Given the description of an element on the screen output the (x, y) to click on. 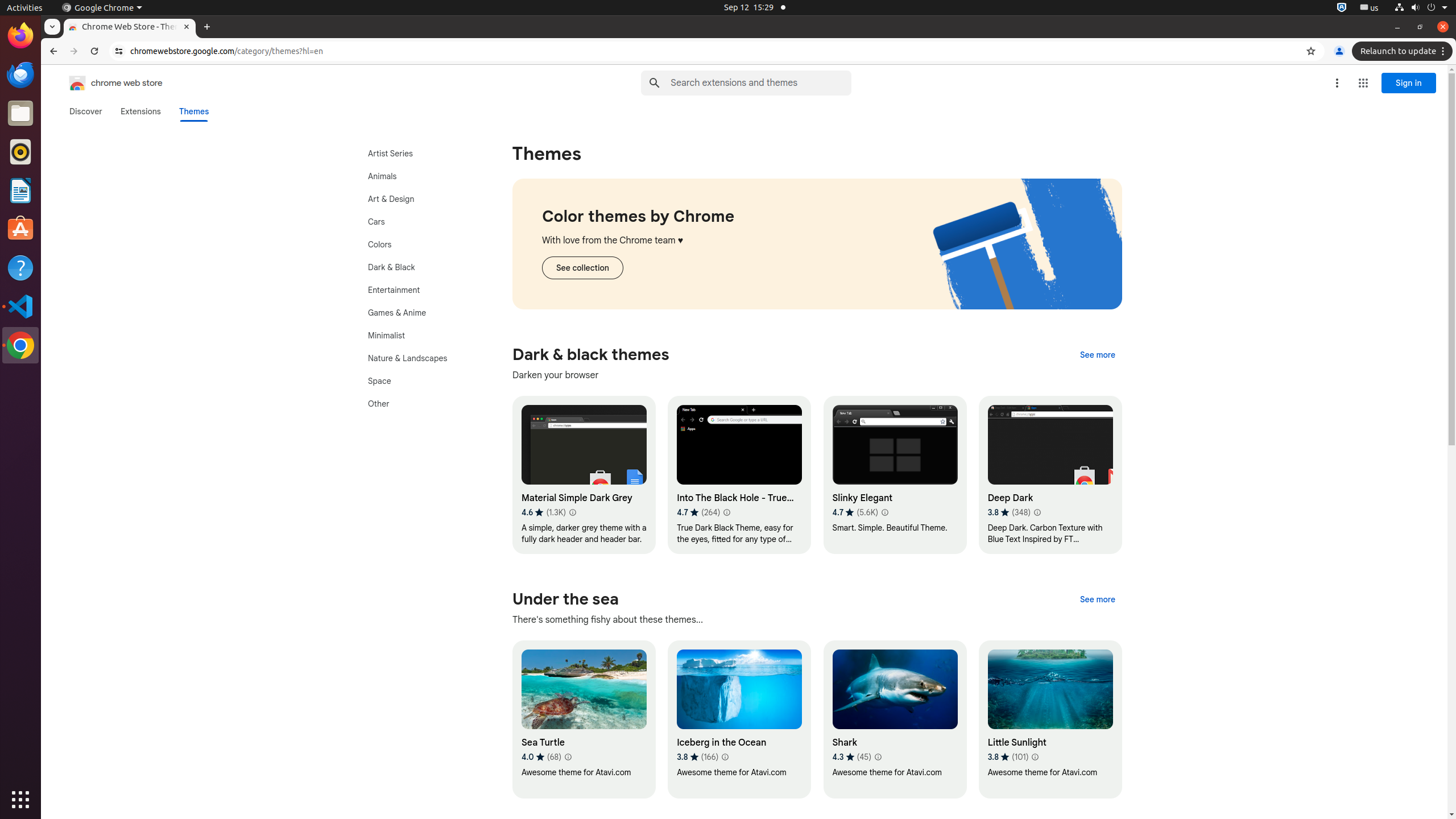
See the "Color themes by Chrome" collection Element type: link (582, 267)
Files Element type: push-button (20, 113)
Other Element type: menu-item (419, 403)
See more of the "Under the sea" collection Element type: link (1097, 599)
Entertainment Element type: menu-item (419, 289)
